Given the description of an element on the screen output the (x, y) to click on. 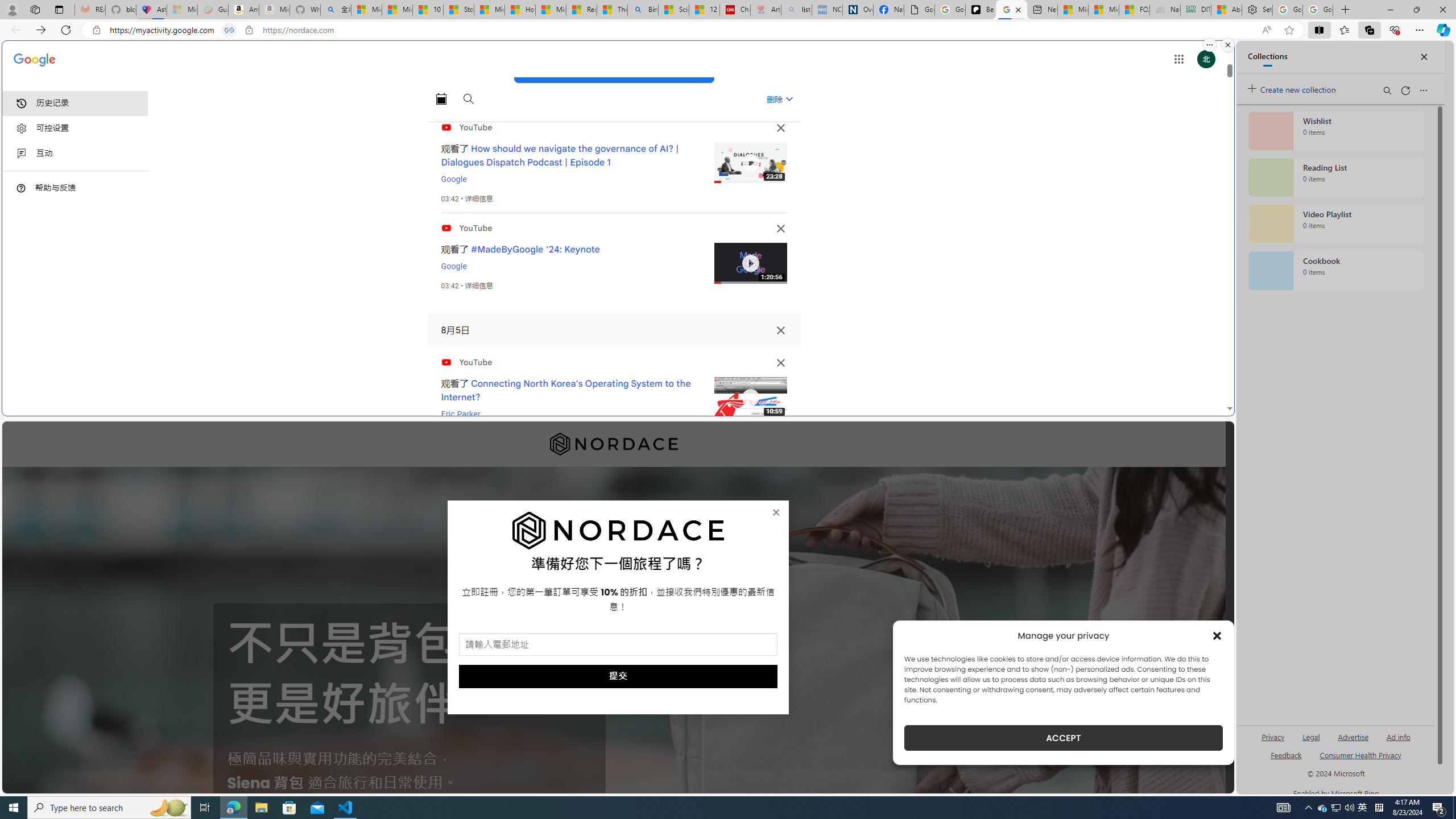
Address and search bar (682, 29)
Connecting North Korea's Operating System to the Internet? (566, 390)
Be Smart | creating Science videos | Patreon (980, 9)
Class: IVR0f NMm5M (750, 397)
Forward (40, 29)
App bar (728, 29)
